Given the description of an element on the screen output the (x, y) to click on. 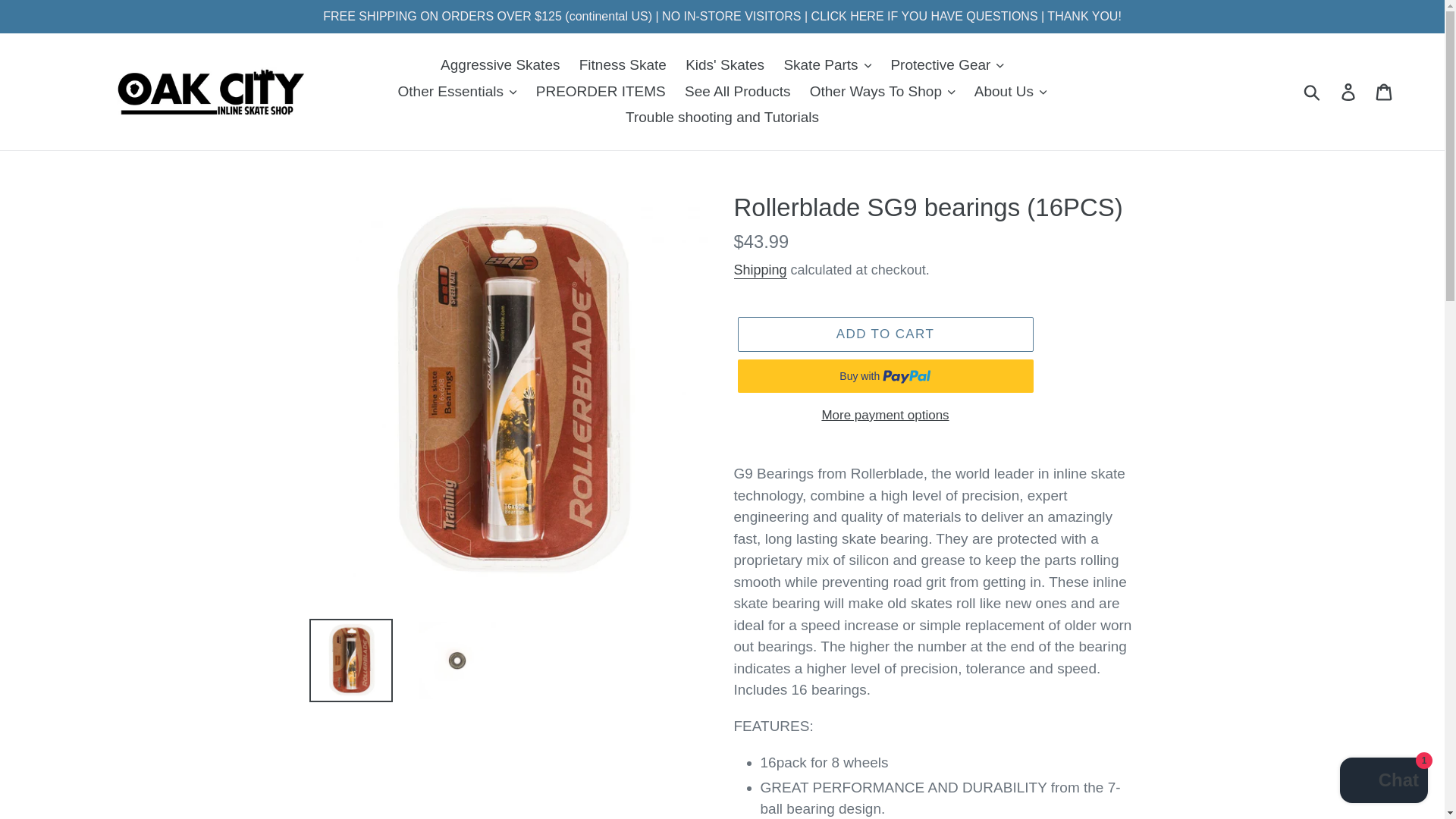
Aggressive Skates (499, 65)
Shopify online store chat (1383, 781)
Fitness Skate (623, 65)
Kids' Skates (724, 65)
